Given the description of an element on the screen output the (x, y) to click on. 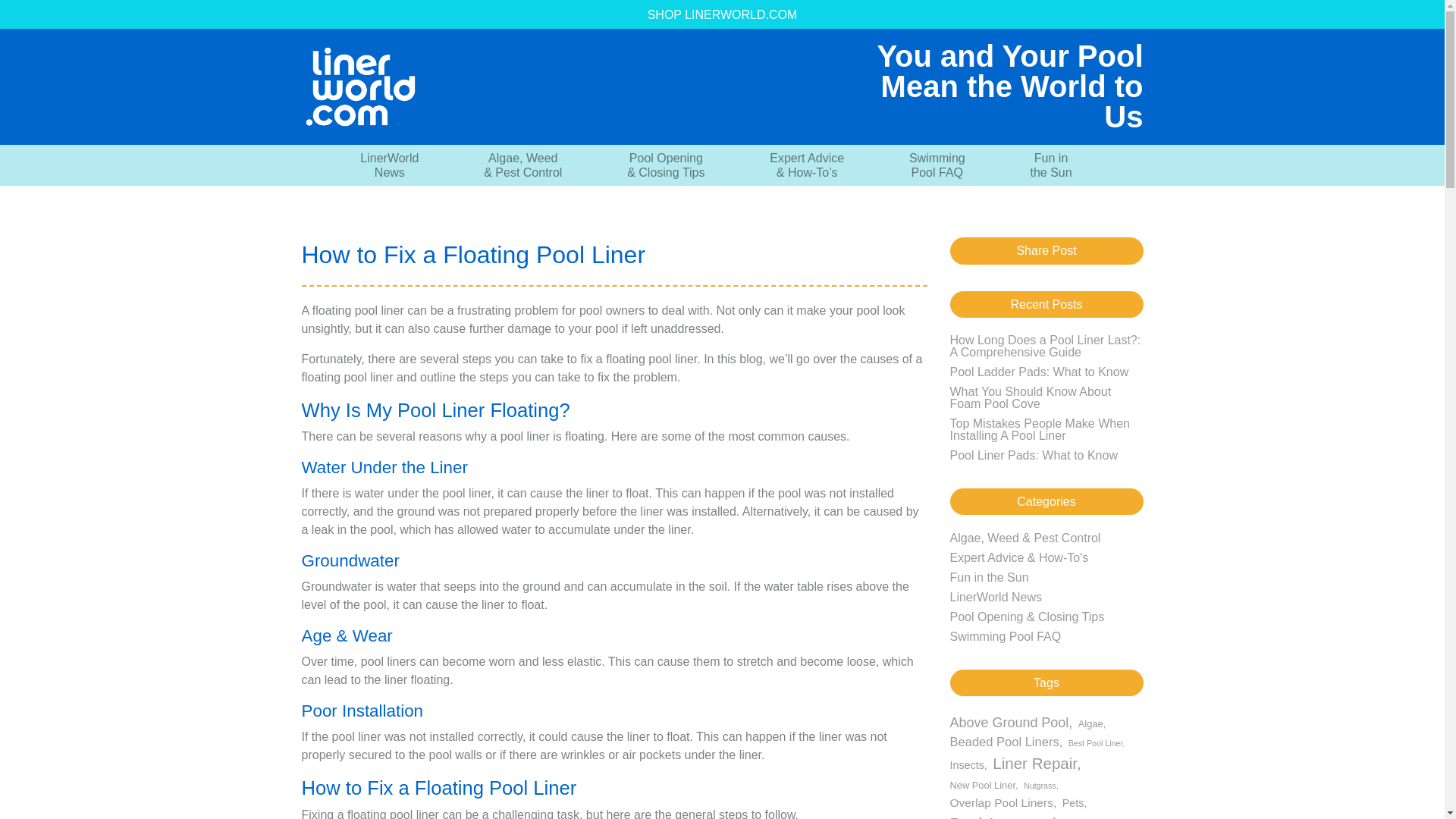
Pool Accessories (1013, 815)
SHOP LINERWORLD.COM (721, 15)
Pool Liner Pads: What to Know (1032, 454)
Beaded Pool Liners (1005, 742)
LinerWorld News (936, 164)
Pets (995, 596)
Nutgrass (1074, 803)
Pool Ladder Pads: What to Know (1040, 785)
Insects (1038, 371)
Algae (968, 765)
Best Pool Liner (1091, 723)
Overlap Pool Liners (1096, 743)
How Long Does a Pool Liner Last?: A Comprehensive Guide (389, 164)
